Given the description of an element on the screen output the (x, y) to click on. 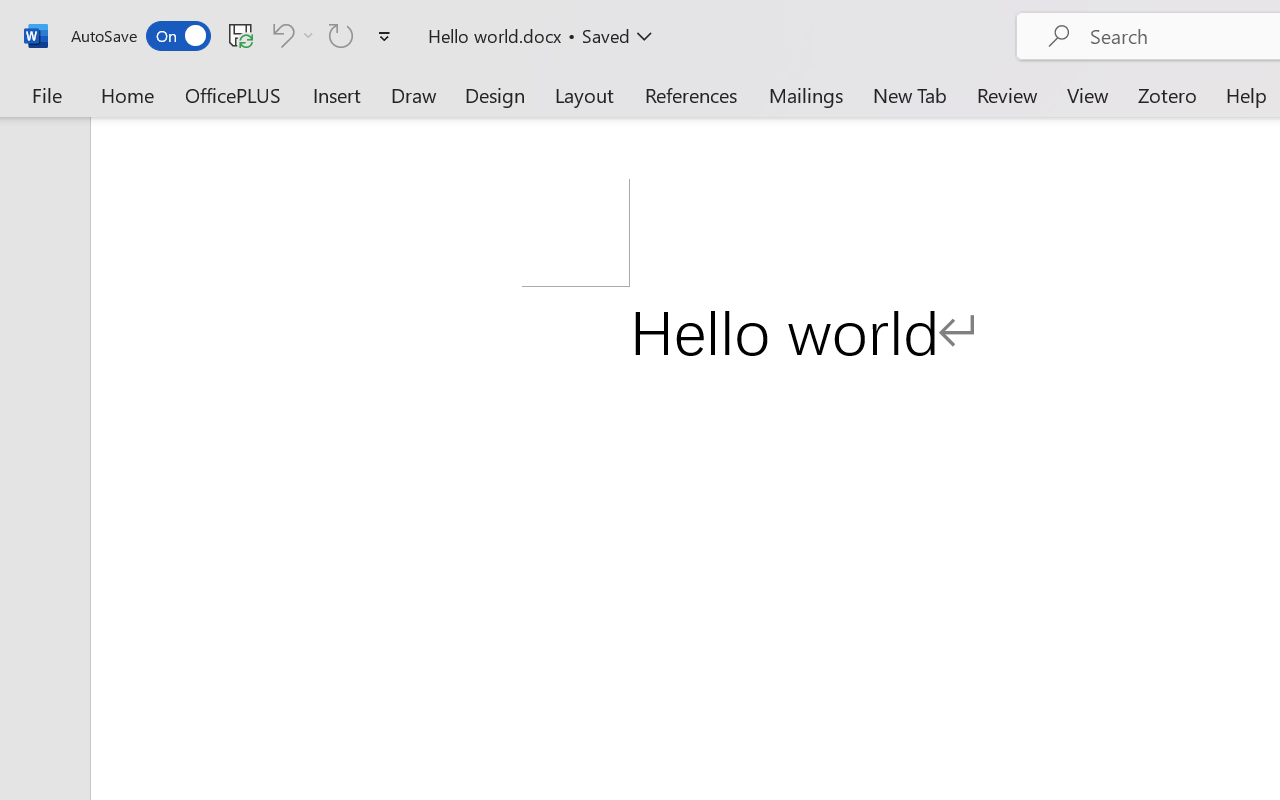
Customize Quick Access Toolbar (384, 35)
Zotero (1166, 94)
Save (241, 35)
OfficePLUS (233, 94)
References (690, 94)
Home (127, 94)
View (1087, 94)
Can't Repeat (341, 35)
Quick Access Toolbar (233, 36)
More Options (308, 35)
AutoSave (140, 35)
Can't Undo (280, 35)
